Given the description of an element on the screen output the (x, y) to click on. 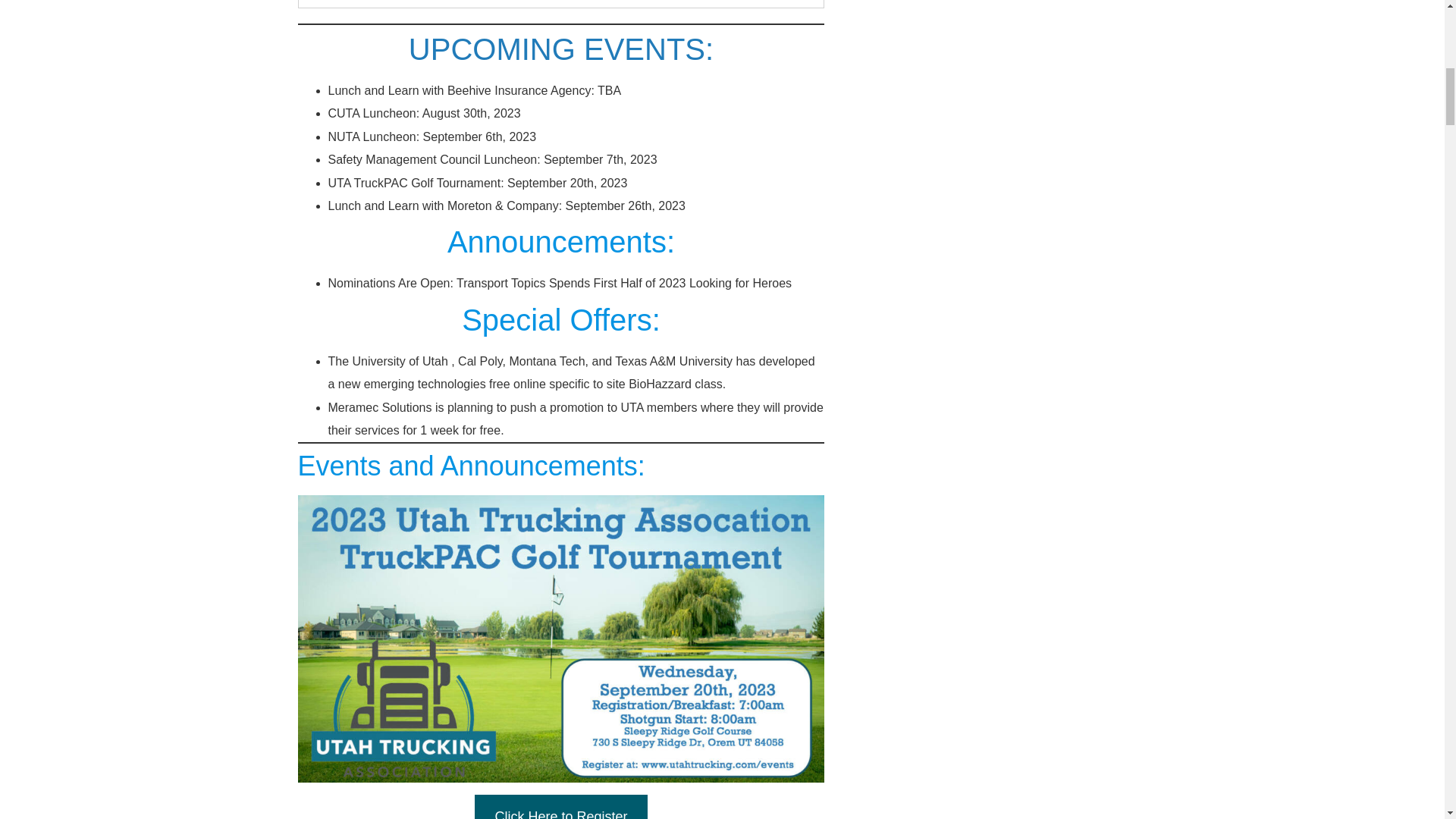
Click Here to Register (560, 806)
